Given the description of an element on the screen output the (x, y) to click on. 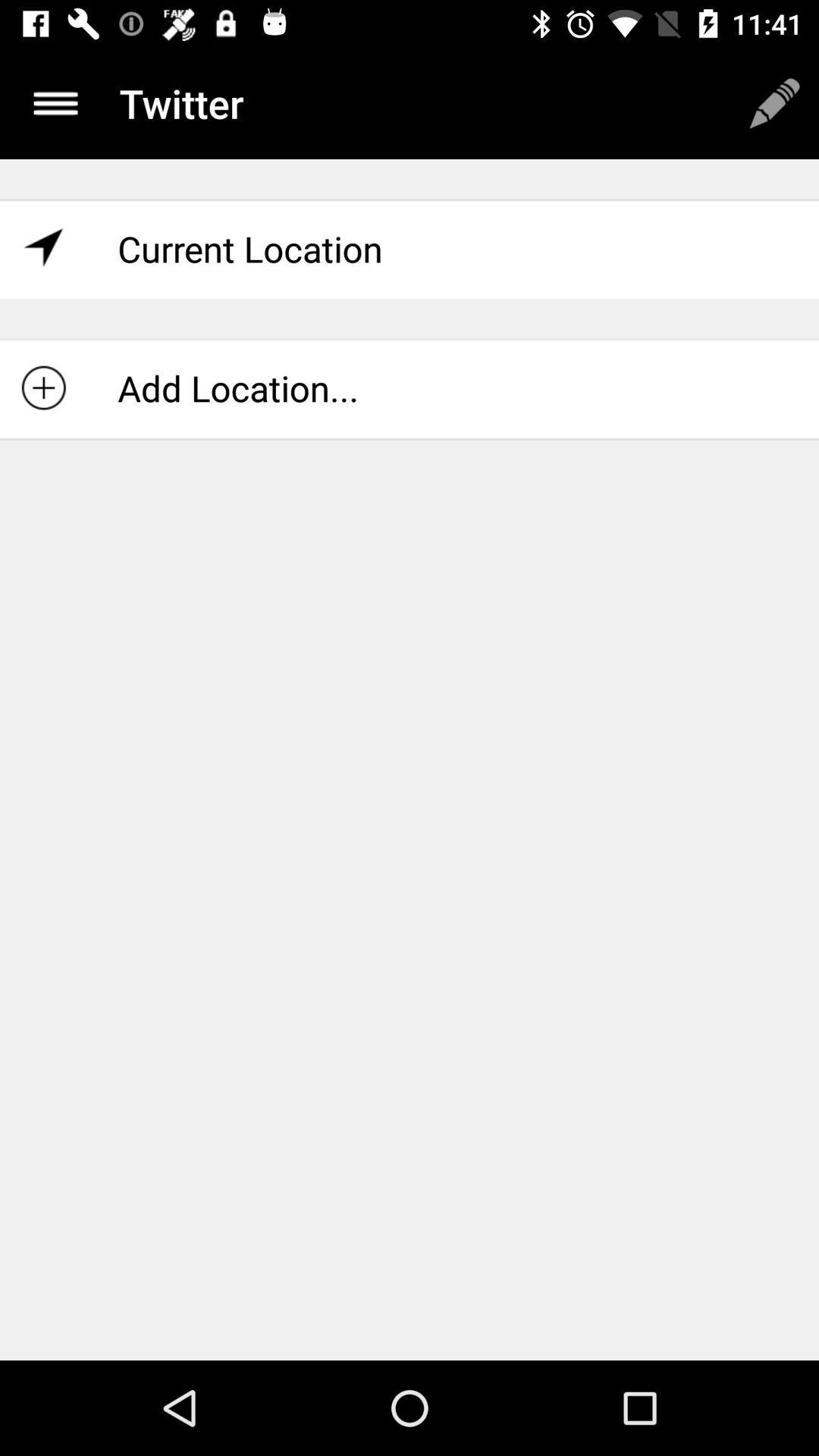
edit option (774, 103)
